Given the description of an element on the screen output the (x, y) to click on. 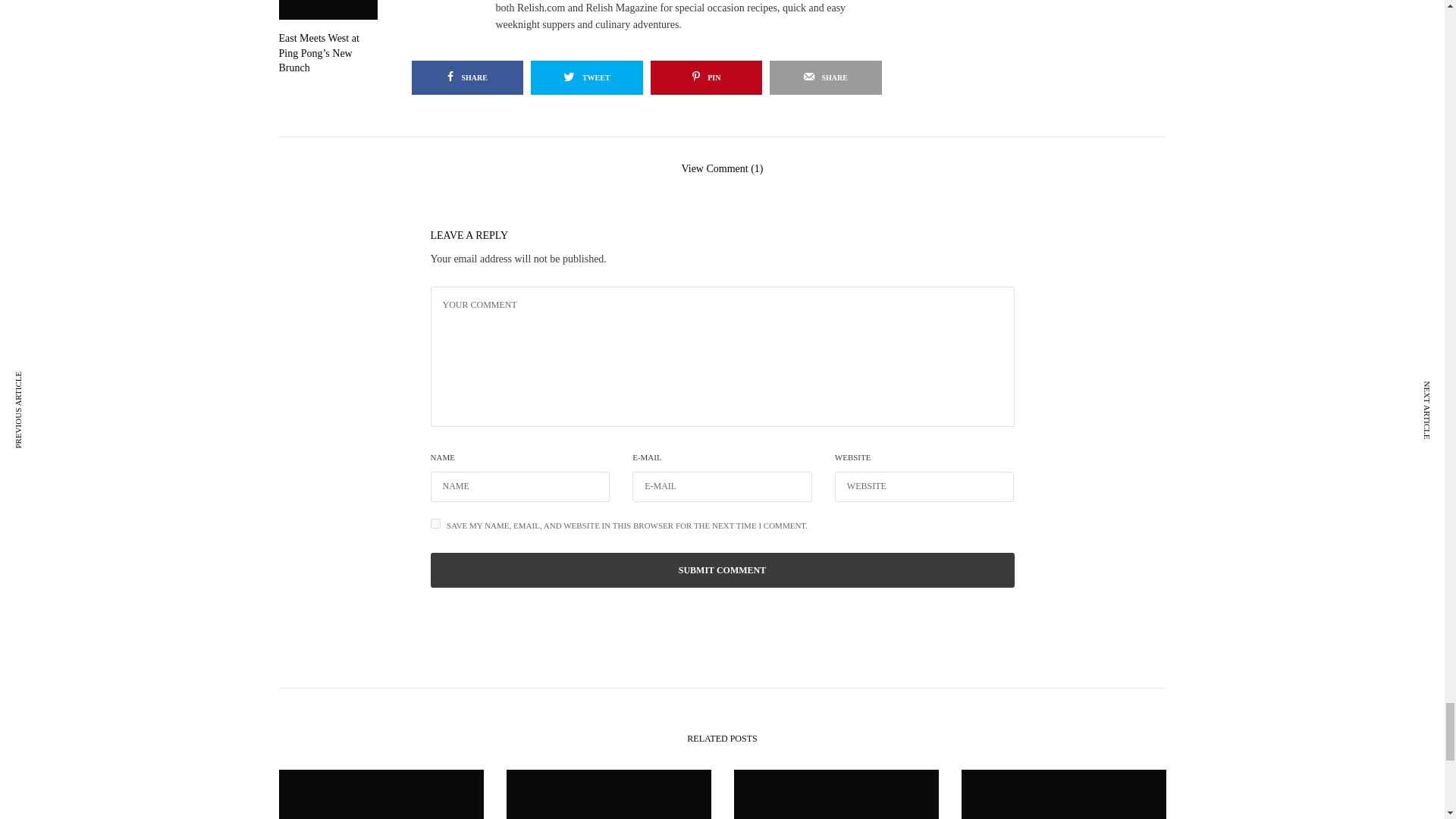
yes (435, 523)
Submit Comment (722, 570)
